Given the description of an element on the screen output the (x, y) to click on. 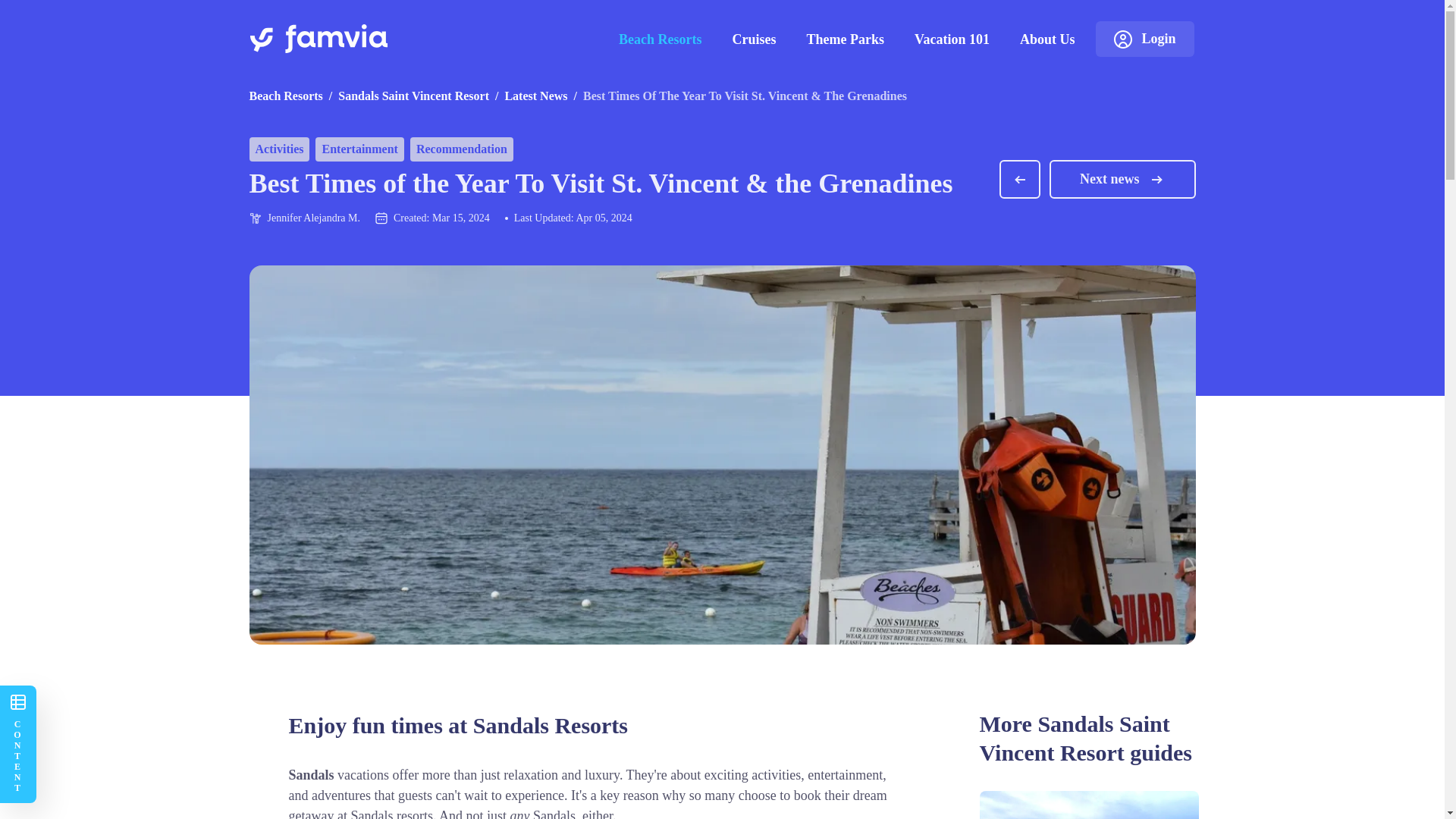
Beach Resorts (284, 95)
Beach Resorts (284, 95)
famvia dashboard (1157, 38)
Beach Resorts (659, 39)
Login (1157, 38)
Entertainment (359, 148)
Theme Parks (845, 39)
Sandals Saint Vincent Resort (413, 95)
Latest News (535, 95)
Sandals Saint Vincent Resort (413, 95)
